Given the description of an element on the screen output the (x, y) to click on. 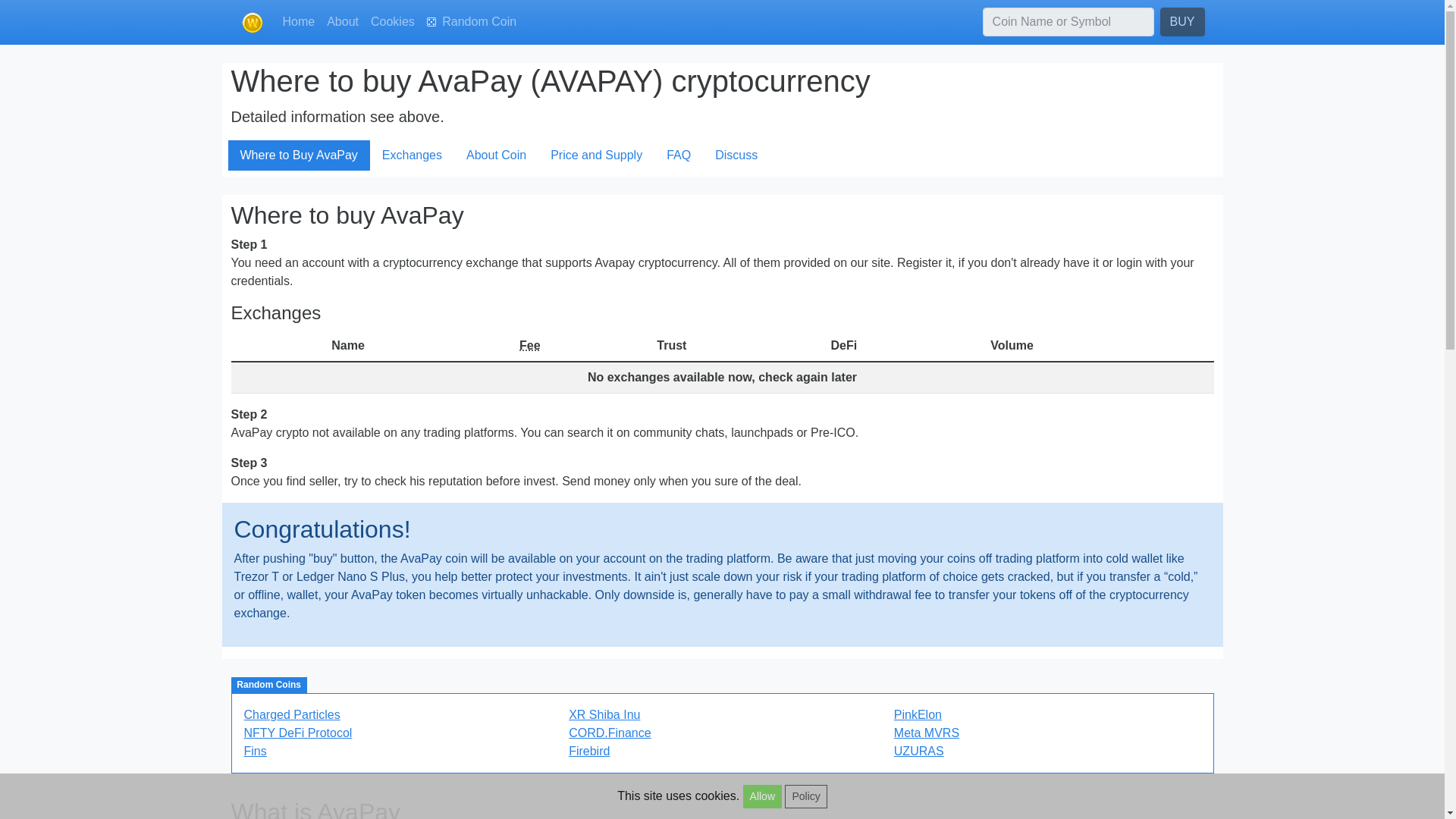
Policy (805, 796)
Random Coin (471, 21)
Allow (761, 796)
UZURAS (918, 750)
BUY (1182, 21)
NFTY DeFi Protocol (298, 732)
About (342, 21)
About Site Team (342, 21)
Try Luck and Get Random Crypto Coin (471, 21)
Discuss (736, 155)
Fins (255, 750)
Exchanges (411, 155)
How we use cookies on this site (805, 796)
Get Back to Home Page (298, 21)
Price and Supply (595, 155)
